Given the description of an element on the screen output the (x, y) to click on. 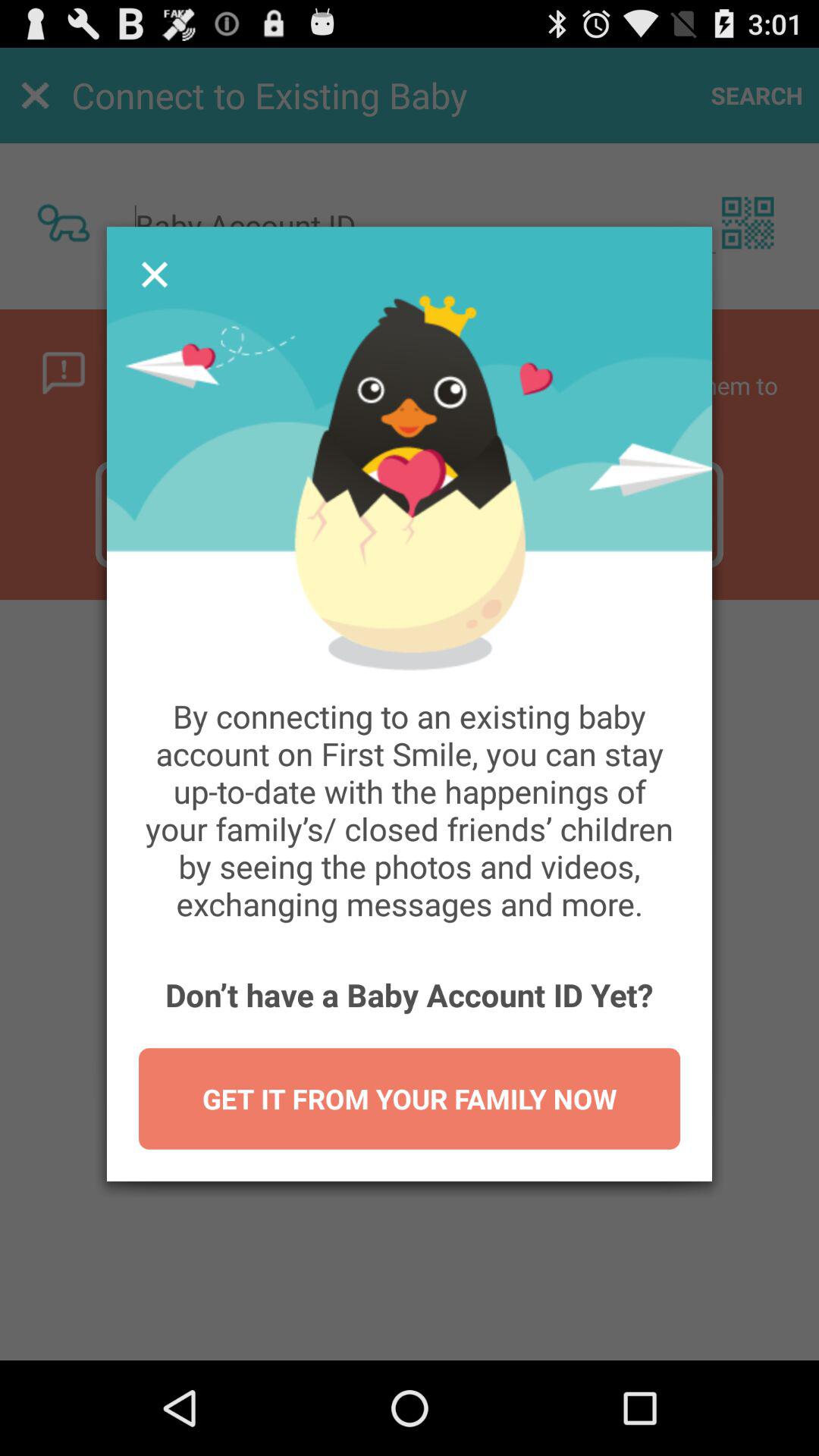
scroll to the get it from item (409, 1098)
